Given the description of an element on the screen output the (x, y) to click on. 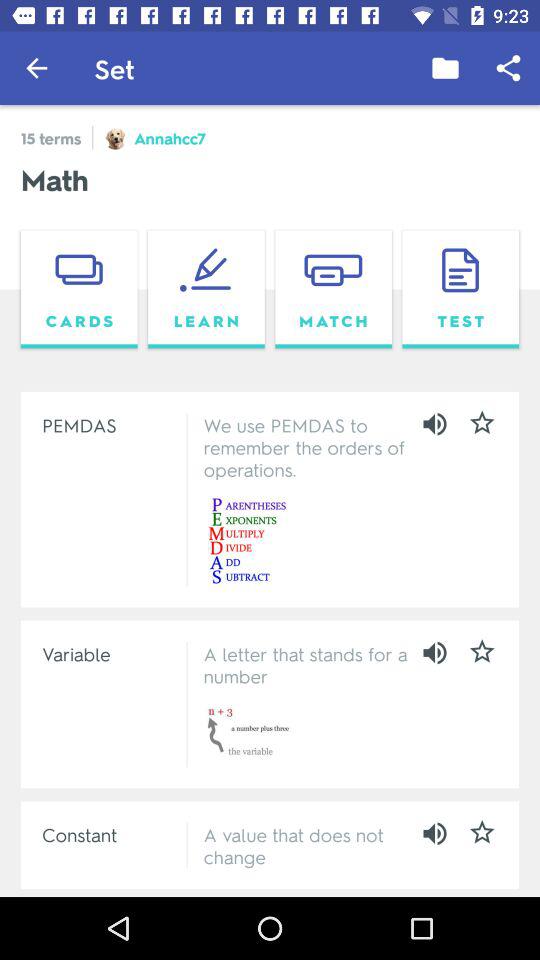
press item above the math icon (444, 67)
